Given the description of an element on the screen output the (x, y) to click on. 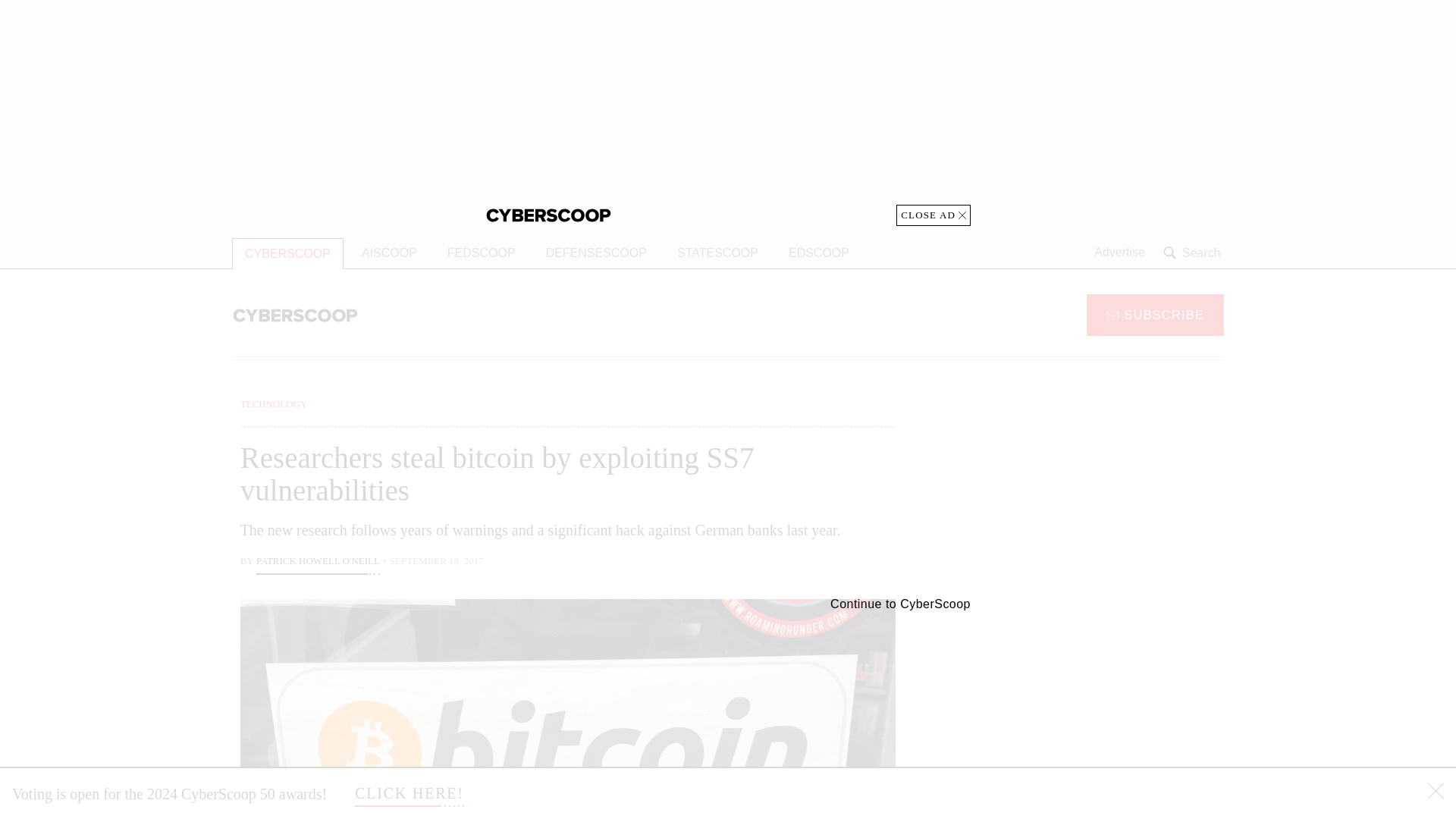
Search (1193, 252)
AISCOOP (389, 253)
3rd party ad content (1101, 491)
Patrick Howell O'Neill (318, 562)
DEFENSESCOOP (596, 253)
CYBERSCOOP (287, 253)
3rd party ad content (1101, 705)
